Given the description of an element on the screen output the (x, y) to click on. 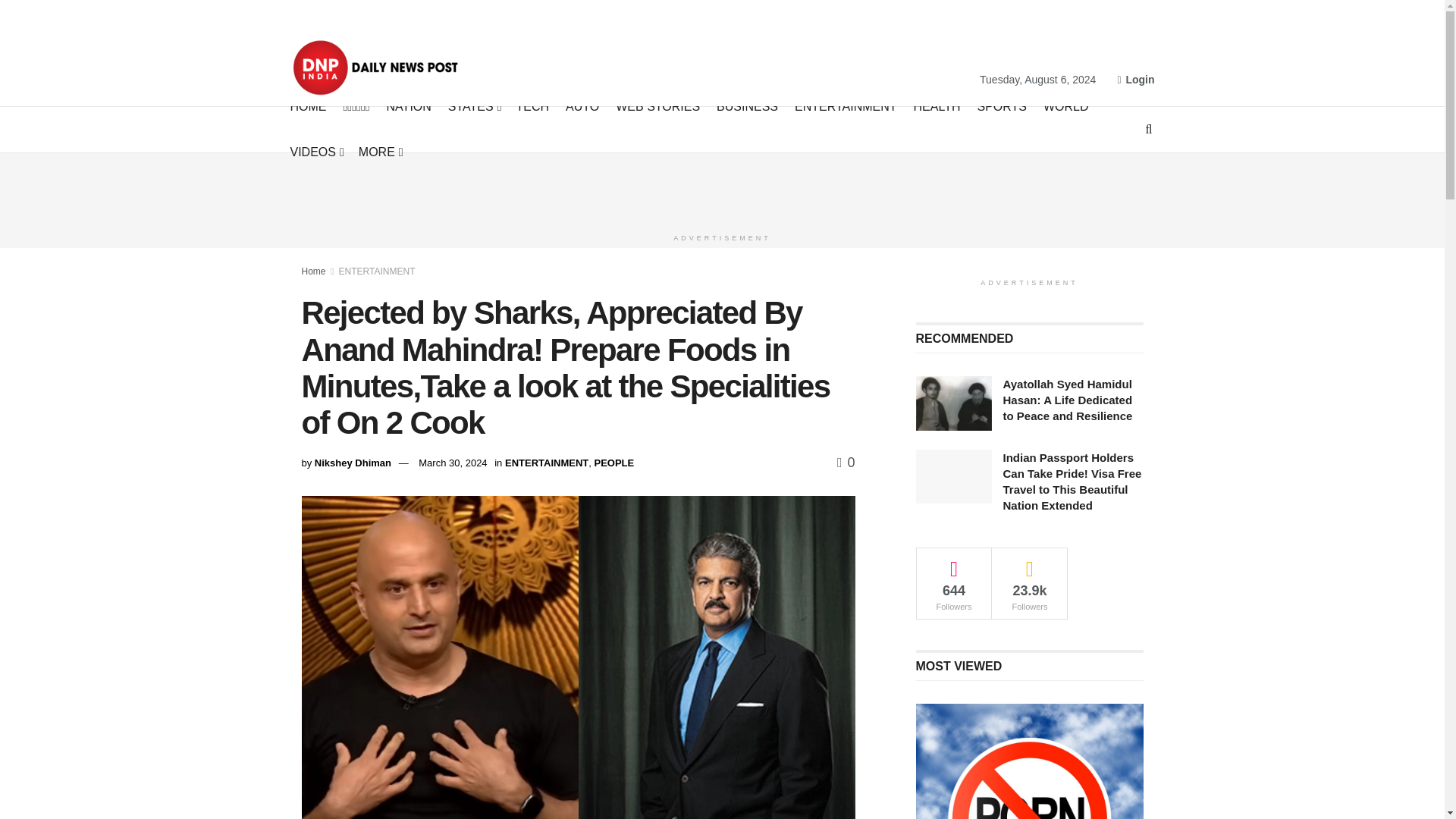
STATES (473, 106)
NATION (408, 106)
HEALTH (937, 106)
VIDEOS (314, 151)
TECH (533, 106)
SPORTS (1001, 106)
HOME (307, 106)
WORLD (1066, 106)
AUTO (582, 106)
Login (1135, 79)
WEB STORIES (657, 106)
ENTERTAINMENT (845, 106)
BUSINESS (746, 106)
MORE (379, 151)
